Given the description of an element on the screen output the (x, y) to click on. 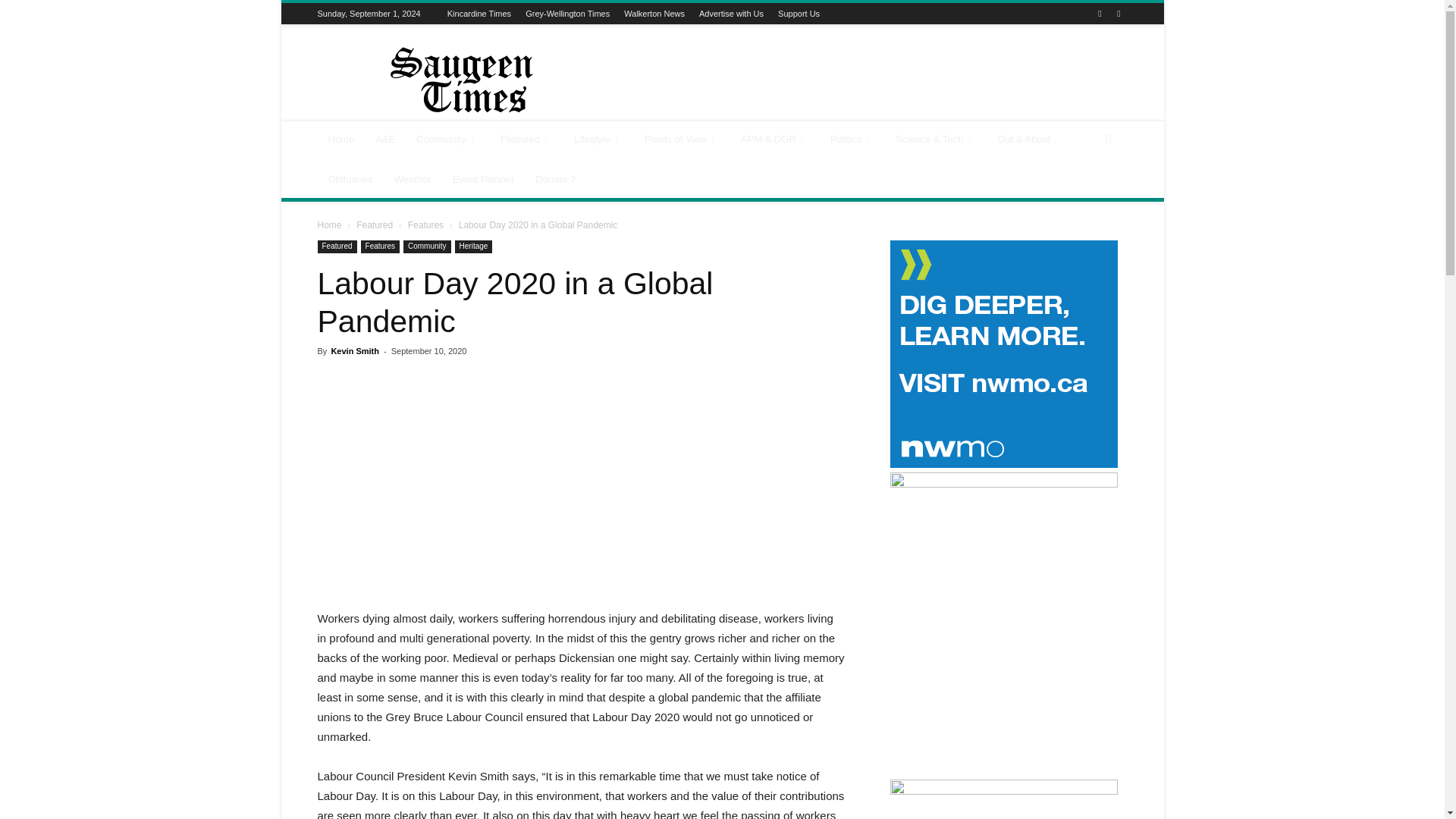
View all posts in Featured (374, 225)
Saugeen Times (445, 79)
View all posts in Features (425, 225)
